Given the description of an element on the screen output the (x, y) to click on. 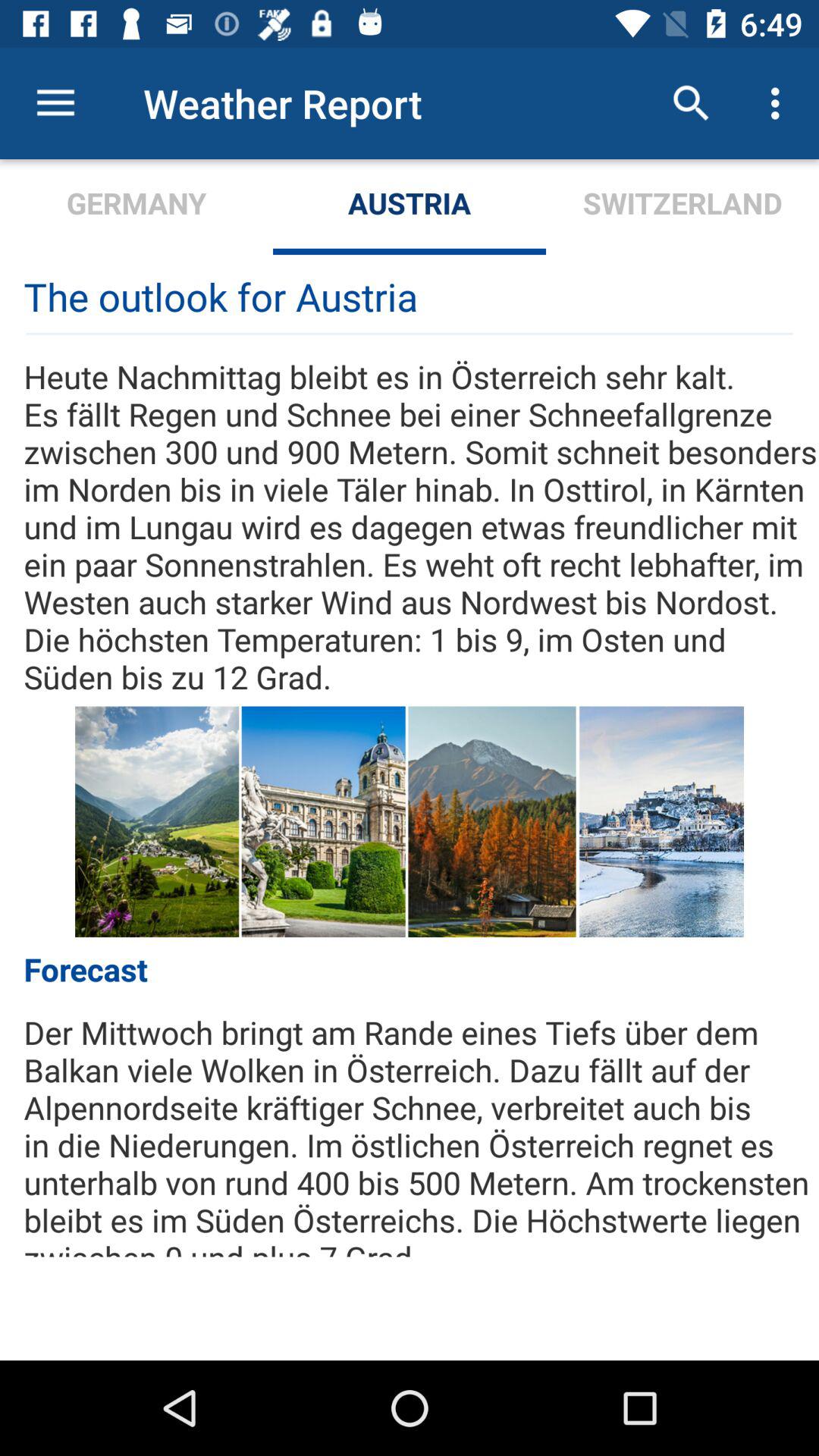
turn off the item next to the weather report (55, 103)
